Given the description of an element on the screen output the (x, y) to click on. 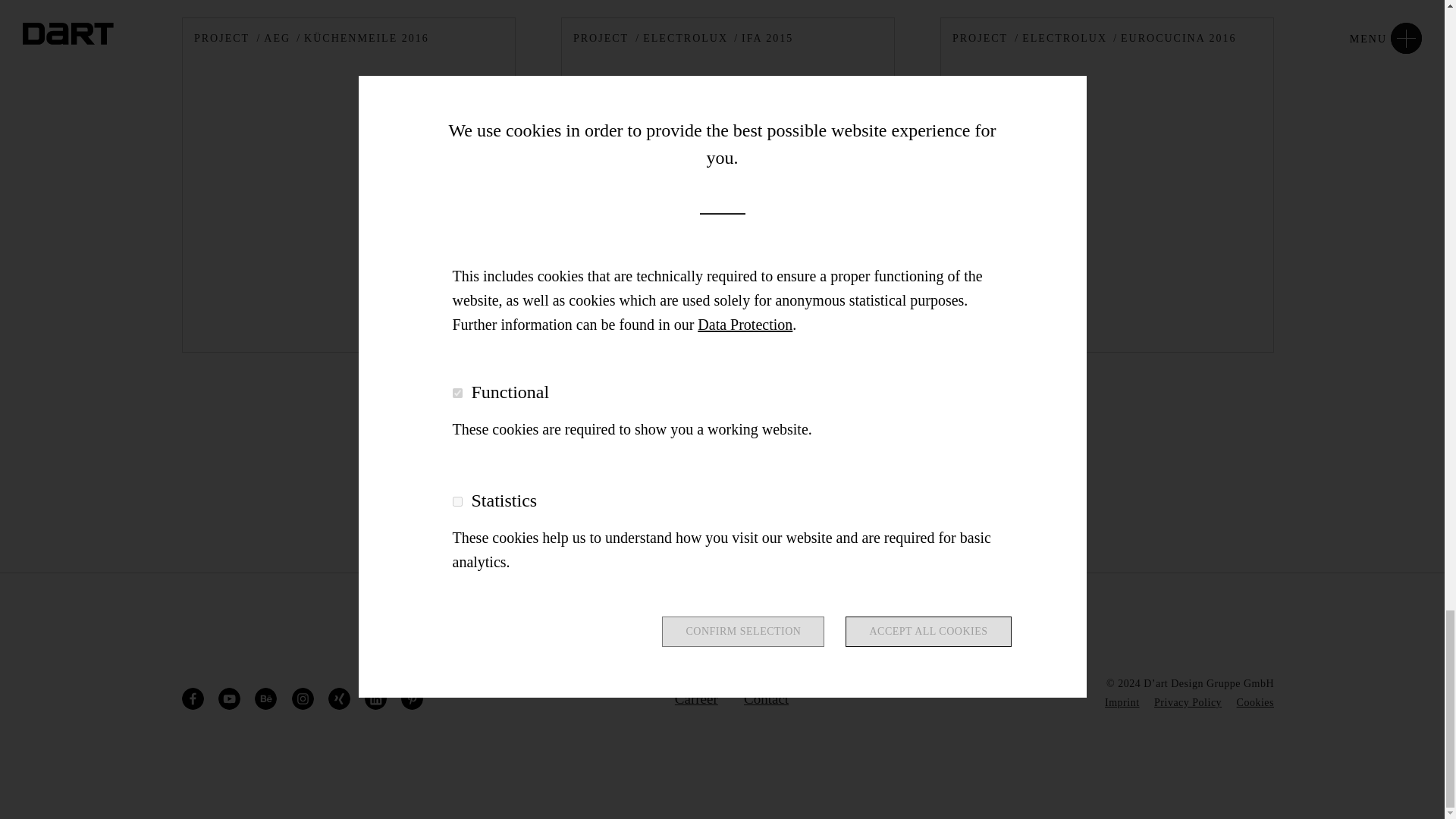
Contact (766, 698)
Imprint (1122, 702)
Privacy Policy (1187, 702)
Cookies (1255, 702)
Carreer (696, 698)
